Given the description of an element on the screen output the (x, y) to click on. 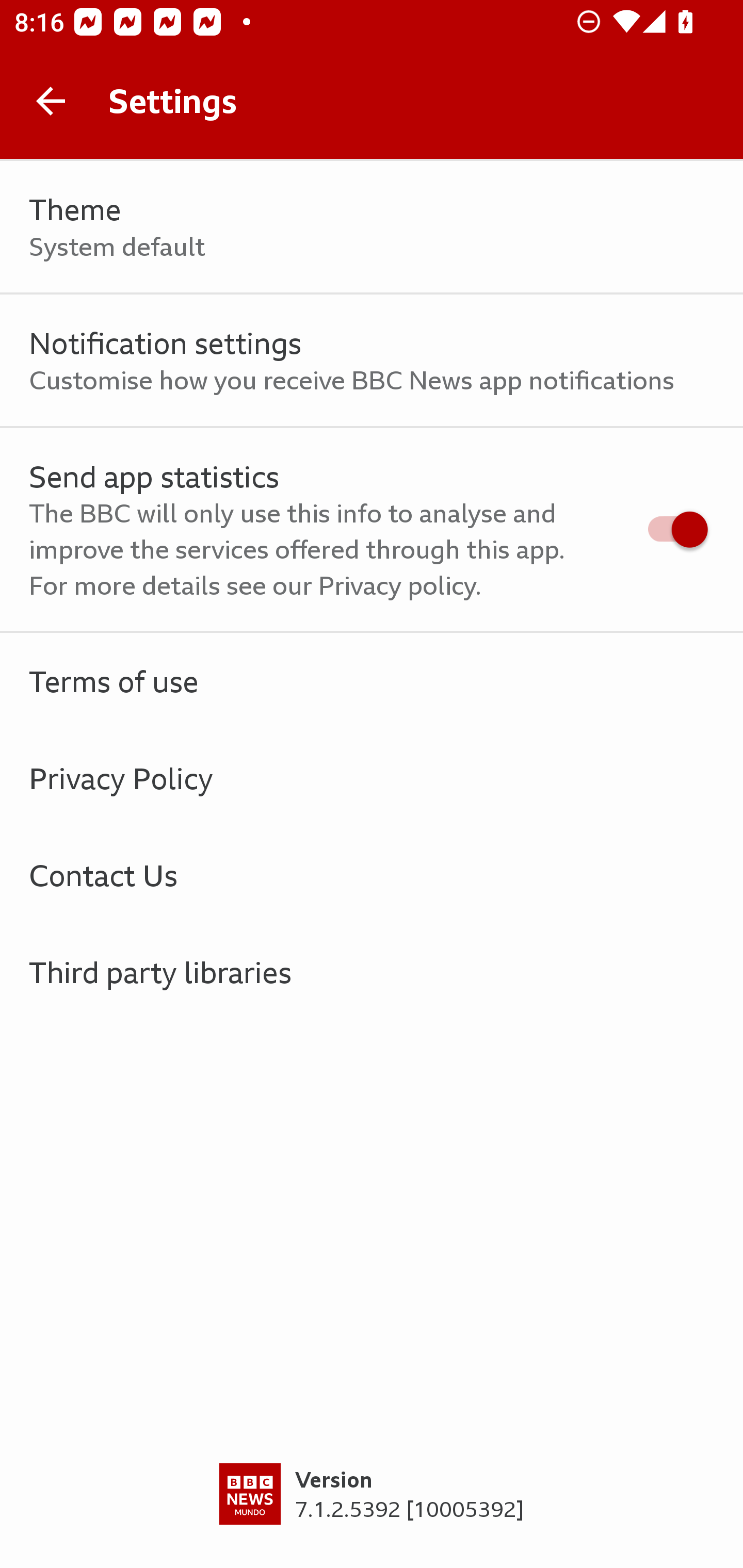
Back (50, 101)
Theme System default (371, 227)
Terms of use (371, 681)
Privacy Policy (371, 777)
Contact Us (371, 874)
Third party libraries (371, 971)
Version 7.1.2.5392 [10005392] (371, 1515)
